Given the description of an element on the screen output the (x, y) to click on. 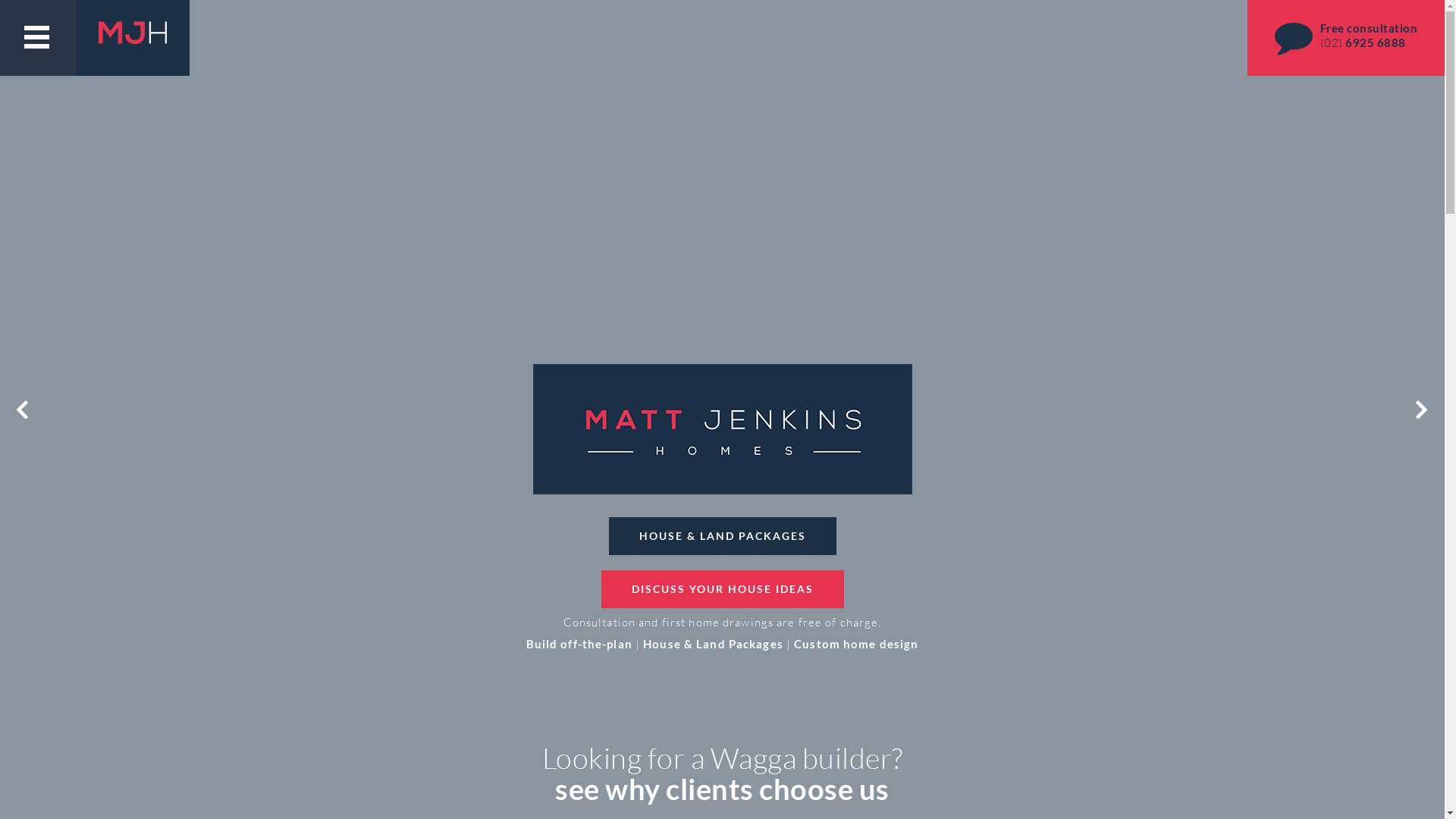
Build off-the-plan Element type: text (579, 643)
Previous Element type: text (22, 409)
DISCUSS YOUR HOUSE IDEAS Element type: text (721, 589)
Skip to main content Element type: text (0, 0)
Custom home design Element type: text (855, 643)
Next Element type: text (1421, 409)
HOUSE & LAND PACKAGES Element type: text (721, 536)
House & Land Packages Element type: text (713, 643)
Looking for a Wagga builder?
see why clients choose us Element type: text (721, 773)
